Given the description of an element on the screen output the (x, y) to click on. 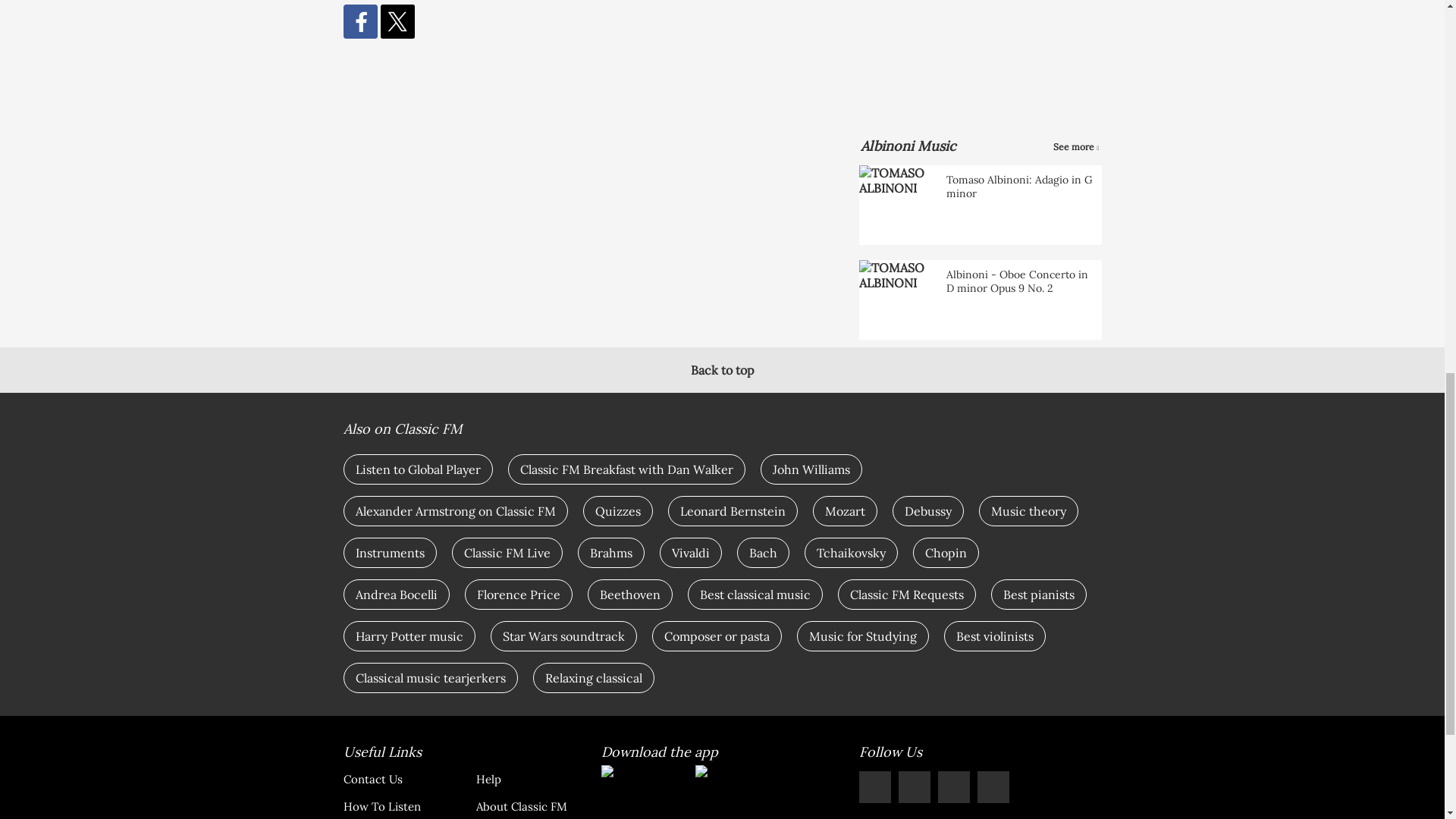
Follow Classic FM on Instagram (953, 787)
Back to top (722, 369)
Albinoni - Oboe Concerto in D minor Opus 9 No. 2 (979, 299)
Follow Classic FM on Youtube (992, 787)
Albinoni Music (907, 145)
Follow Classic FM on X (874, 787)
Listen to Global Player (417, 469)
See more (1074, 147)
Back to top (722, 369)
Follow Classic FM on Facebook (914, 787)
Tomaso Albinoni: Adagio in G minor (979, 204)
Classic FM Breakfast with Dan Walker (626, 469)
